Given the description of an element on the screen output the (x, y) to click on. 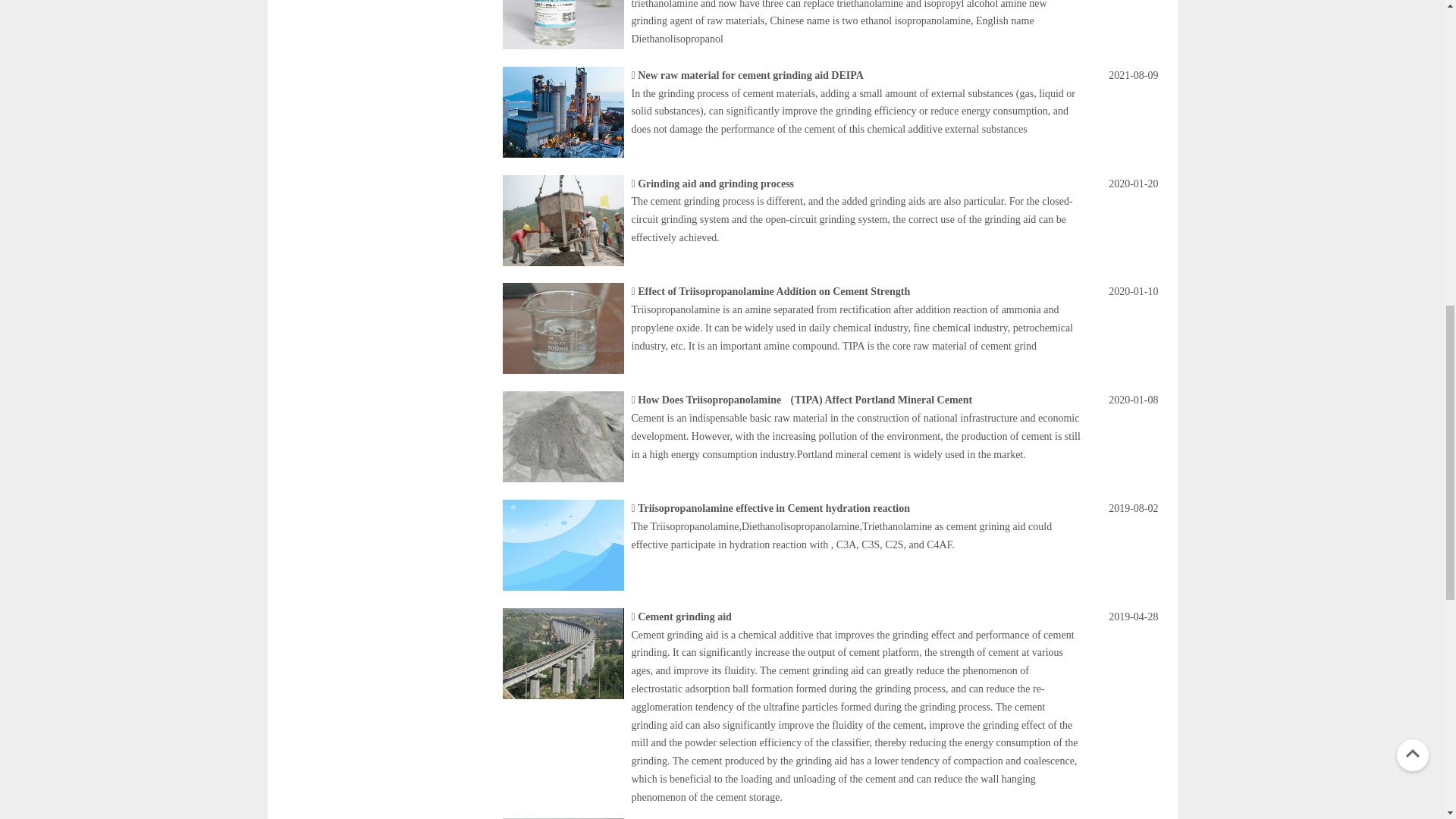
Effect of Triisopropanolamine Addition on Cement Strength (773, 291)
Grinding aid and grinding process (715, 183)
New raw material for cement grinding aid DEIPA (750, 75)
